Given the description of an element on the screen output the (x, y) to click on. 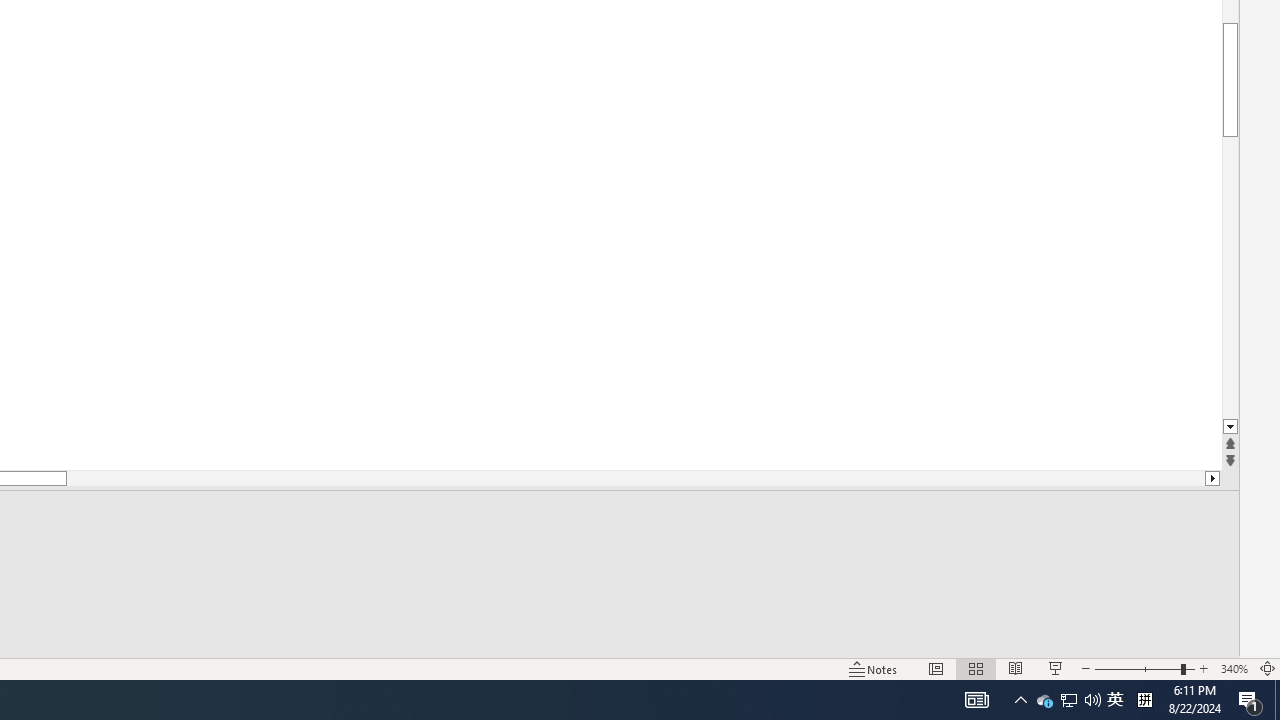
Zoom 340% (1234, 668)
